Given the description of an element on the screen output the (x, y) to click on. 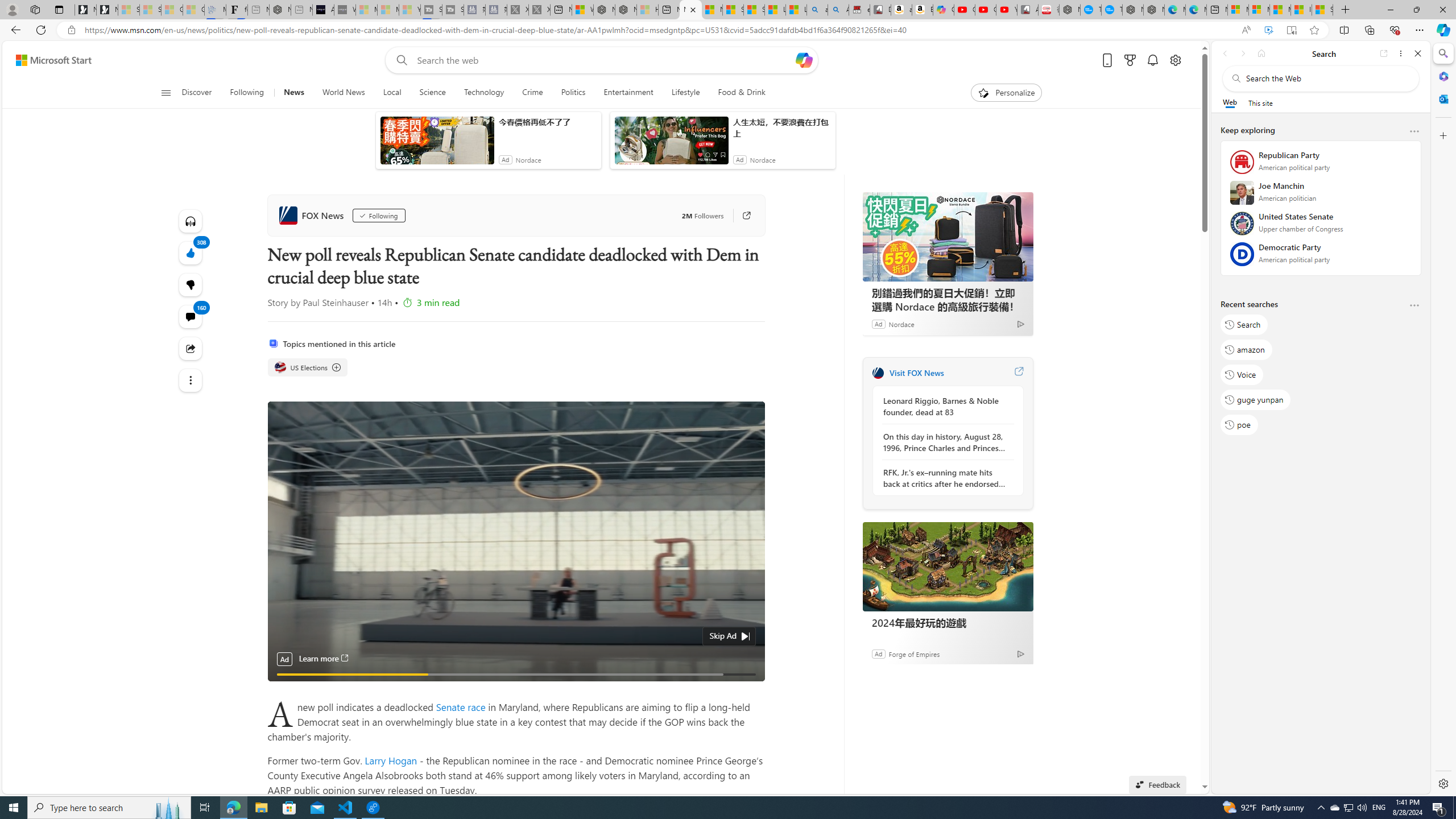
Joe Manchin American politician (1321, 195)
Open link in new tab (1383, 53)
Microsoft account | Privacy (1258, 9)
Food & Drink (741, 92)
Gloom - YouTube (985, 9)
Go to publisher's site (740, 215)
Democratic Party American political party (1321, 257)
Side bar (1443, 418)
